Given the description of an element on the screen output the (x, y) to click on. 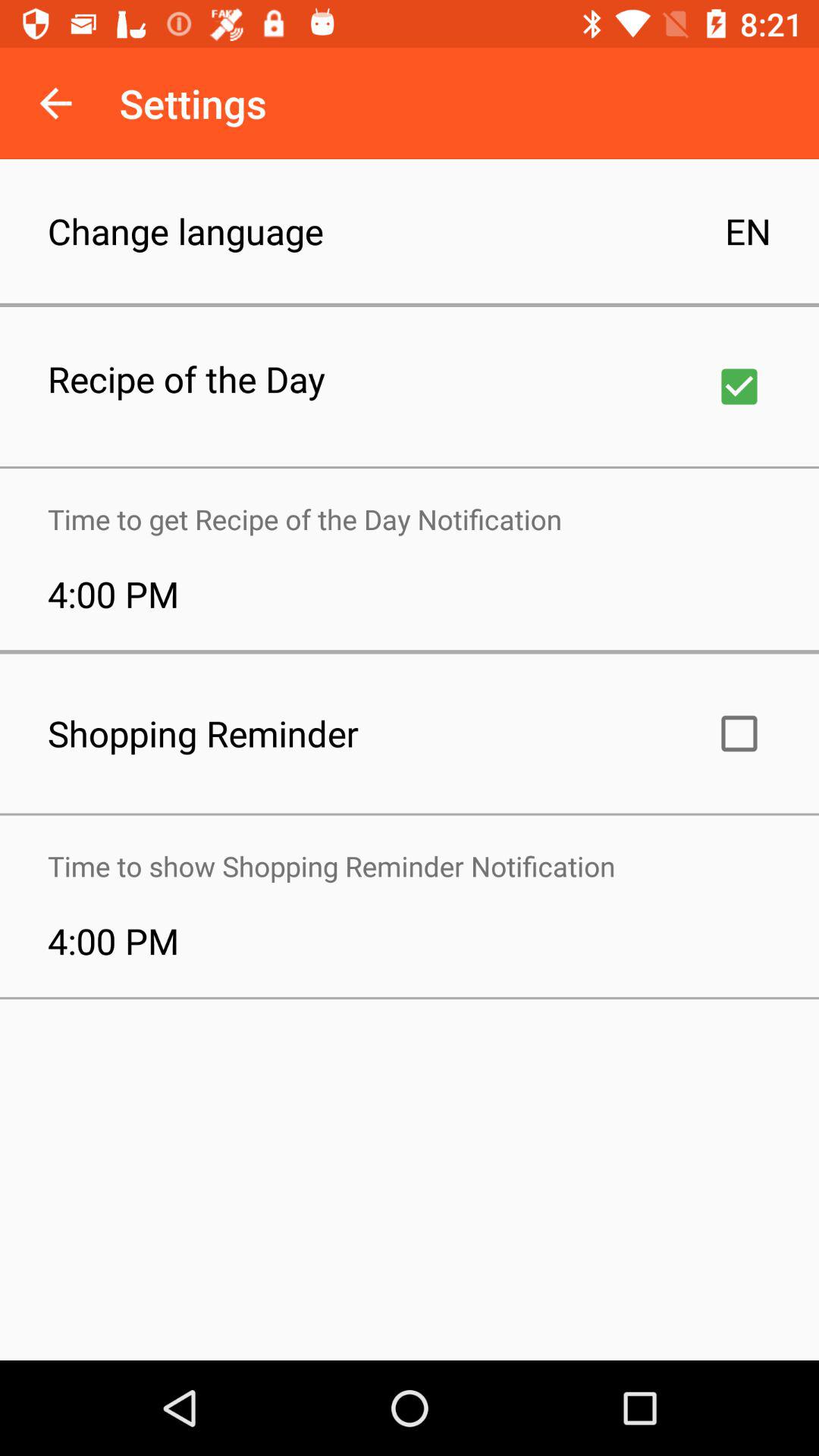
open item to the left of the settings icon (55, 103)
